Given the description of an element on the screen output the (x, y) to click on. 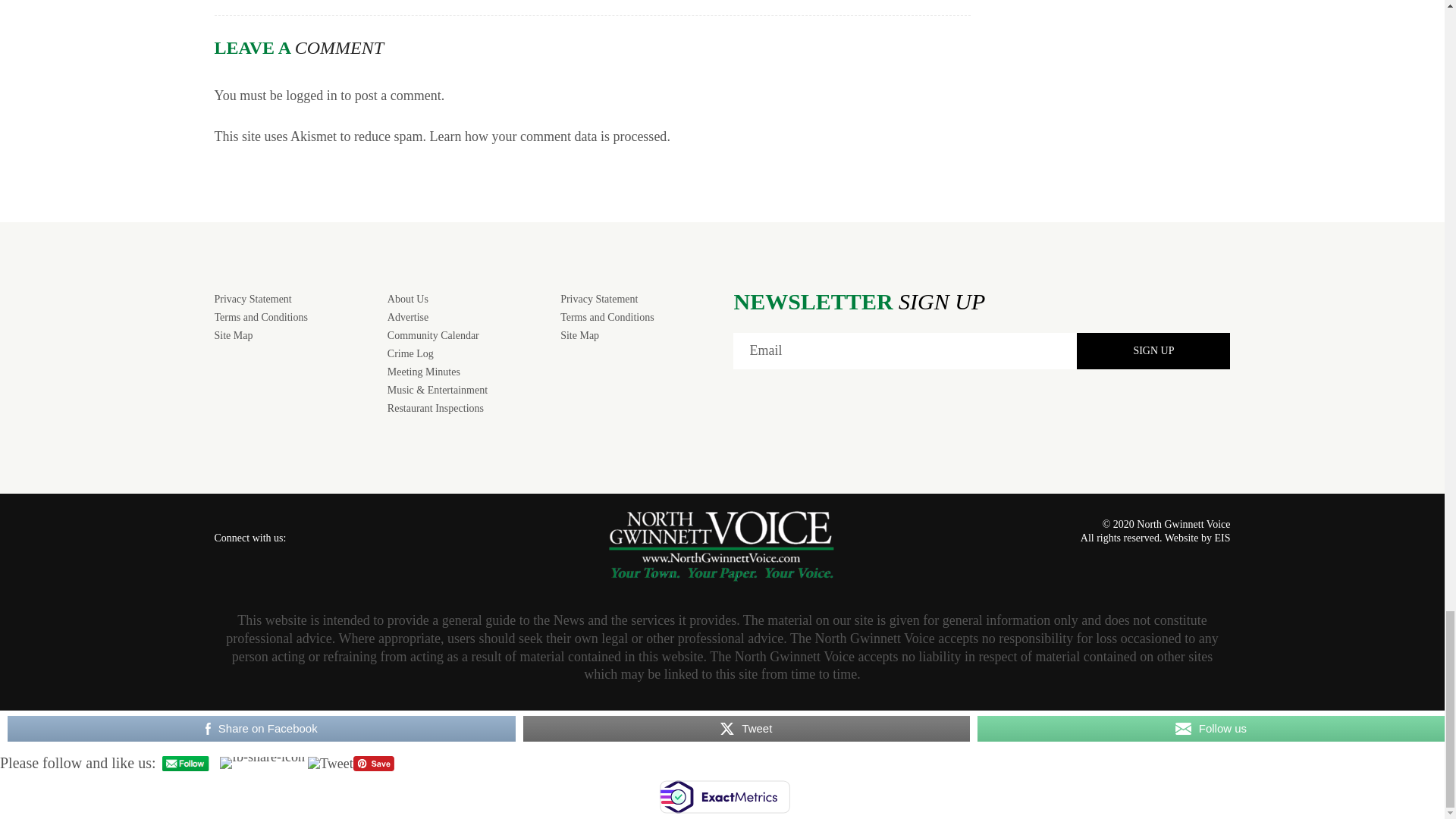
SIGN UP (1153, 350)
